Given the description of an element on the screen output the (x, y) to click on. 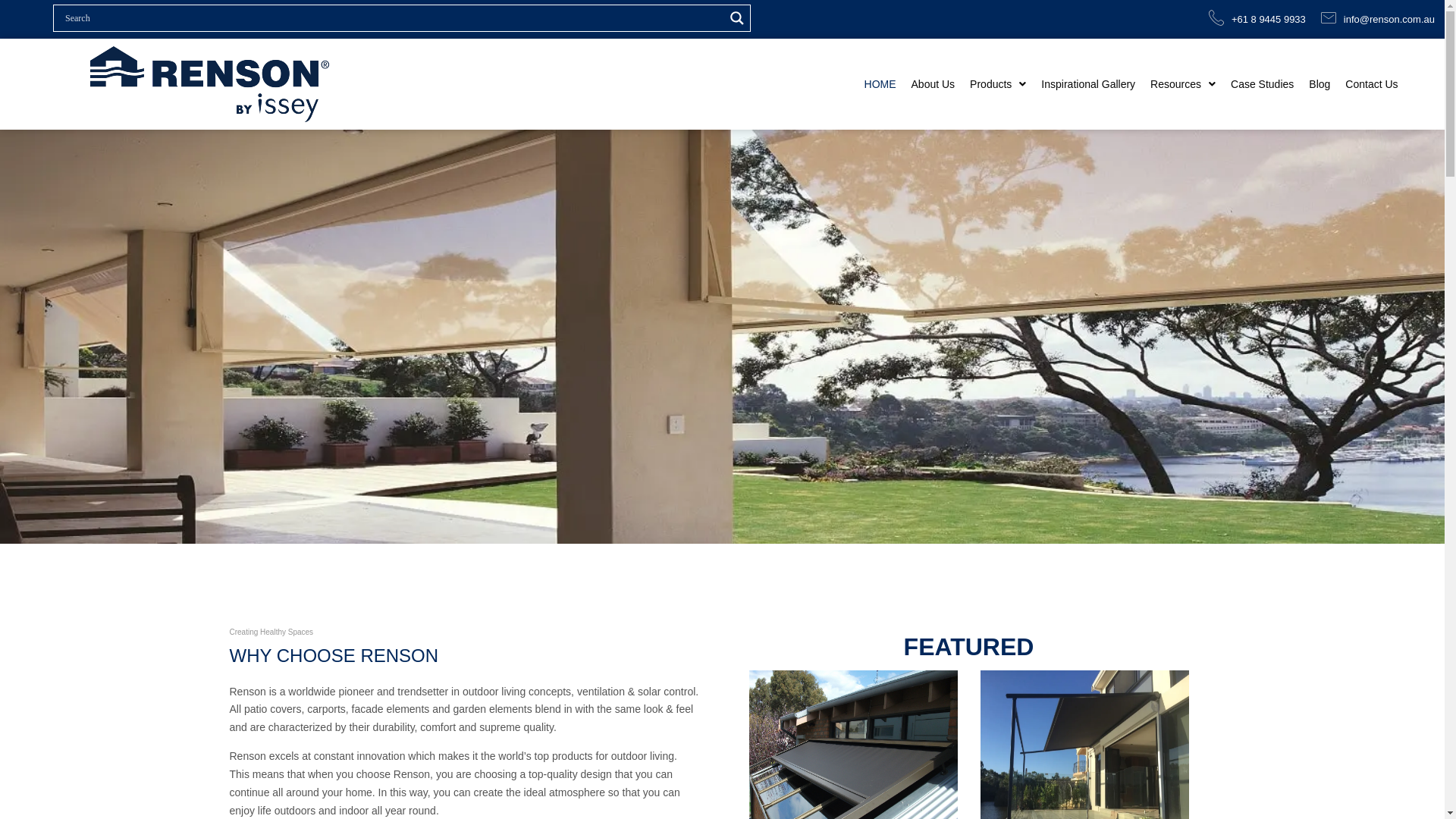
Products Element type: text (997, 83)
About Us Element type: text (933, 83)
Contact Us Element type: text (1371, 83)
Inspirational Gallery Element type: text (1087, 83)
Resources Element type: text (1182, 83)
info@renson.com.au Element type: text (1377, 18)
HOME Element type: text (879, 83)
Case Studies Element type: text (1262, 83)
Blog Element type: text (1319, 83)
+61 8 9445 9933 Element type: text (1256, 18)
